Given the description of an element on the screen output the (x, y) to click on. 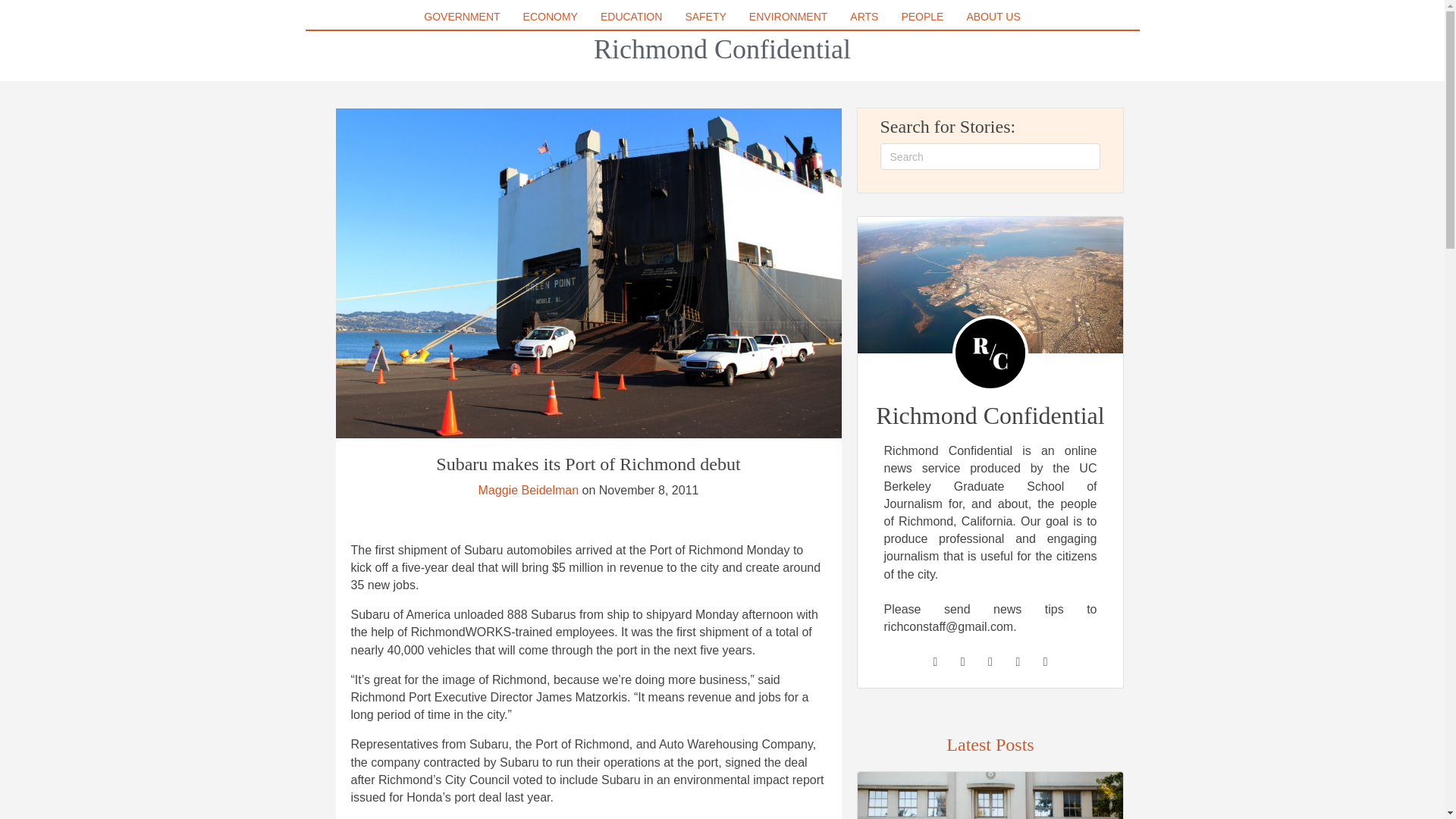
SAFETY (705, 16)
PEOPLE (921, 16)
Richmond Confidential (722, 49)
ARTS (864, 16)
ECONOMY (550, 16)
GOVERNMENT (461, 16)
Richmond Confidential (722, 49)
ENVIRONMENT (787, 16)
ABOUT US (992, 16)
Type and press Enter to search. (990, 156)
Maggie Beidelman (529, 490)
Posts by Maggie Beidelman (529, 490)
EDUCATION (630, 16)
